Given the description of an element on the screen output the (x, y) to click on. 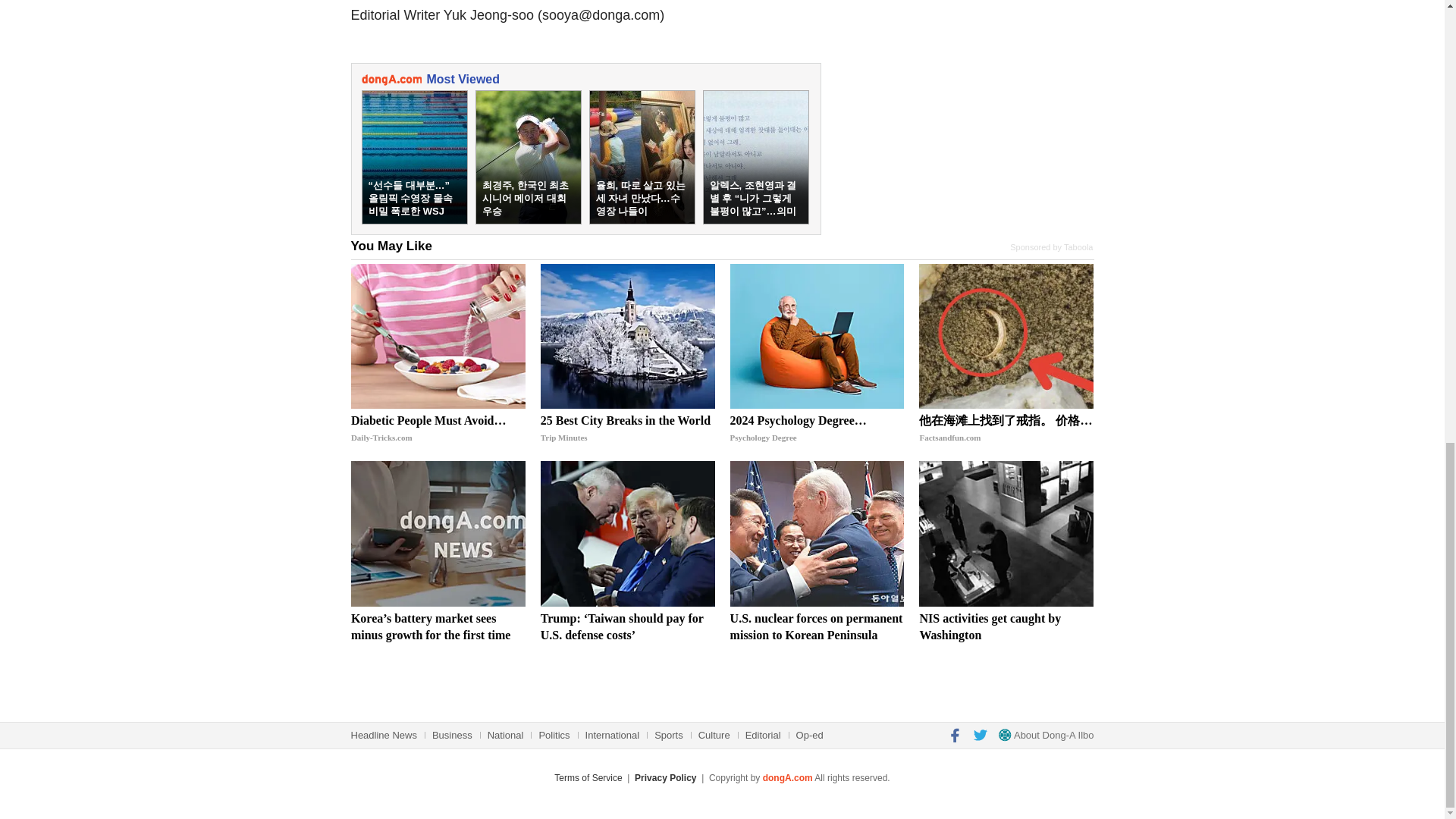
25 Best City Breaks in the World (627, 336)
25 Best City Breaks in the World (627, 428)
